Given the description of an element on the screen output the (x, y) to click on. 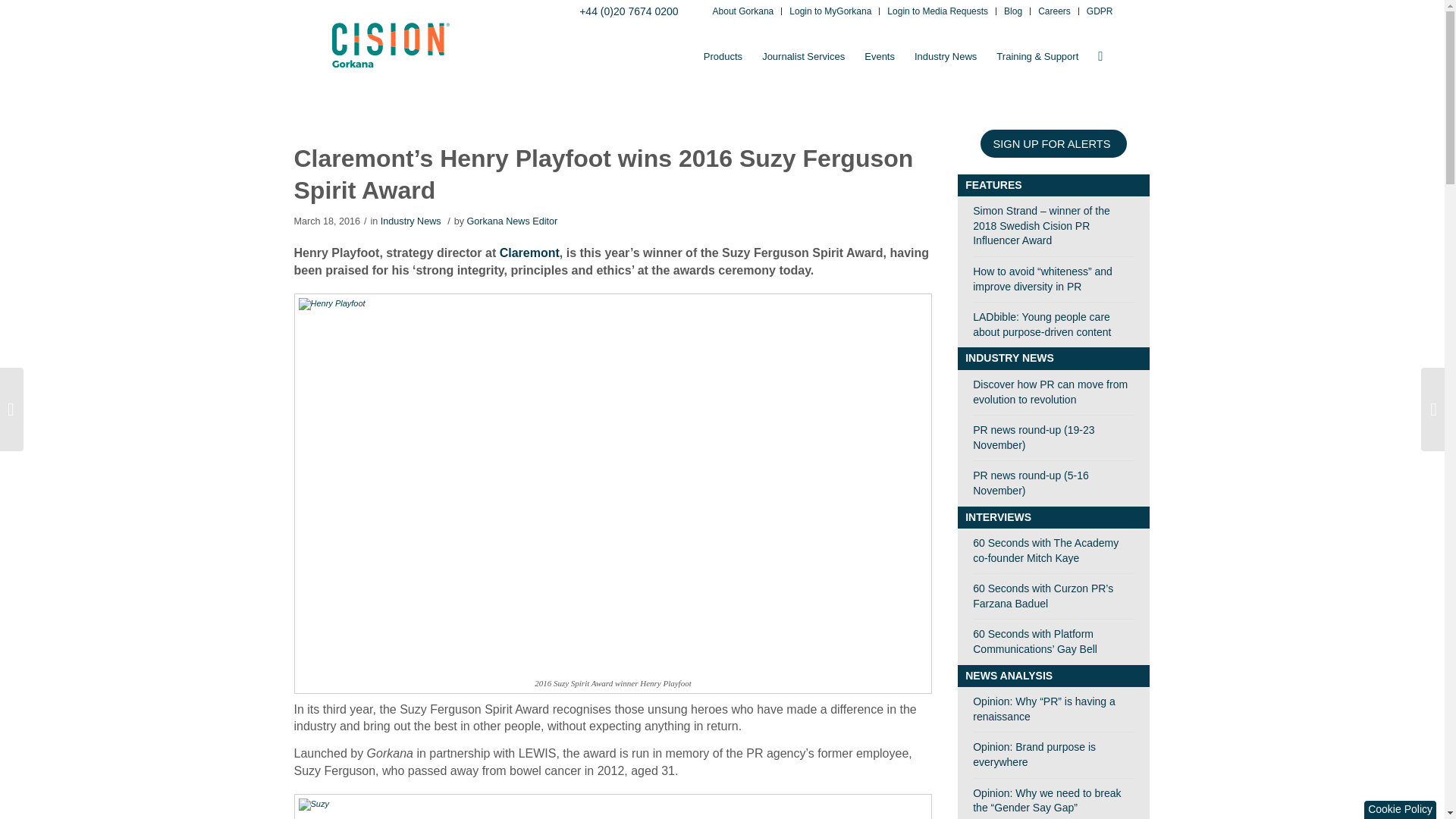
Login to Media Requests (937, 12)
Journalist Services (803, 56)
Login to MyGorkana (829, 12)
Careers (1054, 12)
About Gorkana (743, 12)
Posts by Gorkana News Editor (511, 221)
Industry News (945, 56)
GDPR (1099, 12)
